Given the description of an element on the screen output the (x, y) to click on. 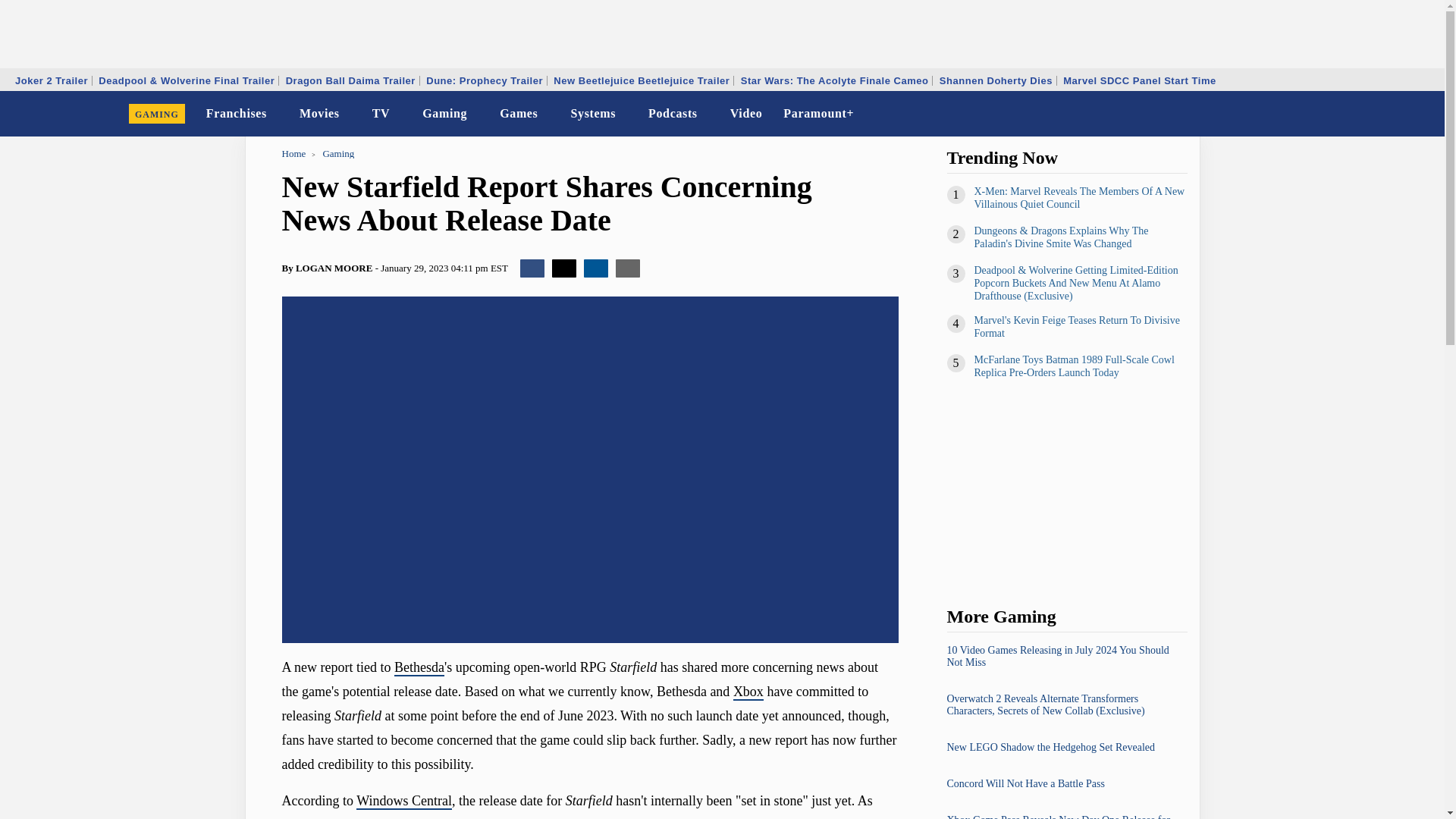
Dark Mode (1394, 113)
Arrow (277, 113)
Dune: Prophecy Trailer (484, 80)
GAMING (157, 113)
Arrow (625, 114)
Marvel SDCC Panel Start Time (1139, 80)
Arrow (277, 114)
Star Wars: The Acolyte Finale Cameo (834, 80)
Arrow (707, 114)
Arrow (400, 114)
Arrow (547, 114)
Arrow (349, 113)
Dragon Ball Daima Trailer (350, 80)
Search (1422, 114)
Arrow (400, 113)
